Given the description of an element on the screen output the (x, y) to click on. 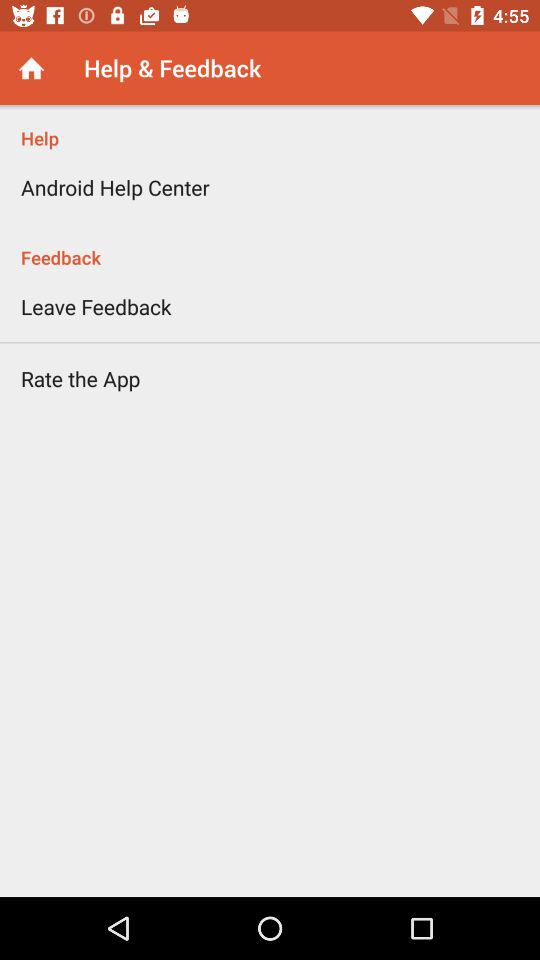
open item below the leave feedback item (80, 378)
